Given the description of an element on the screen output the (x, y) to click on. 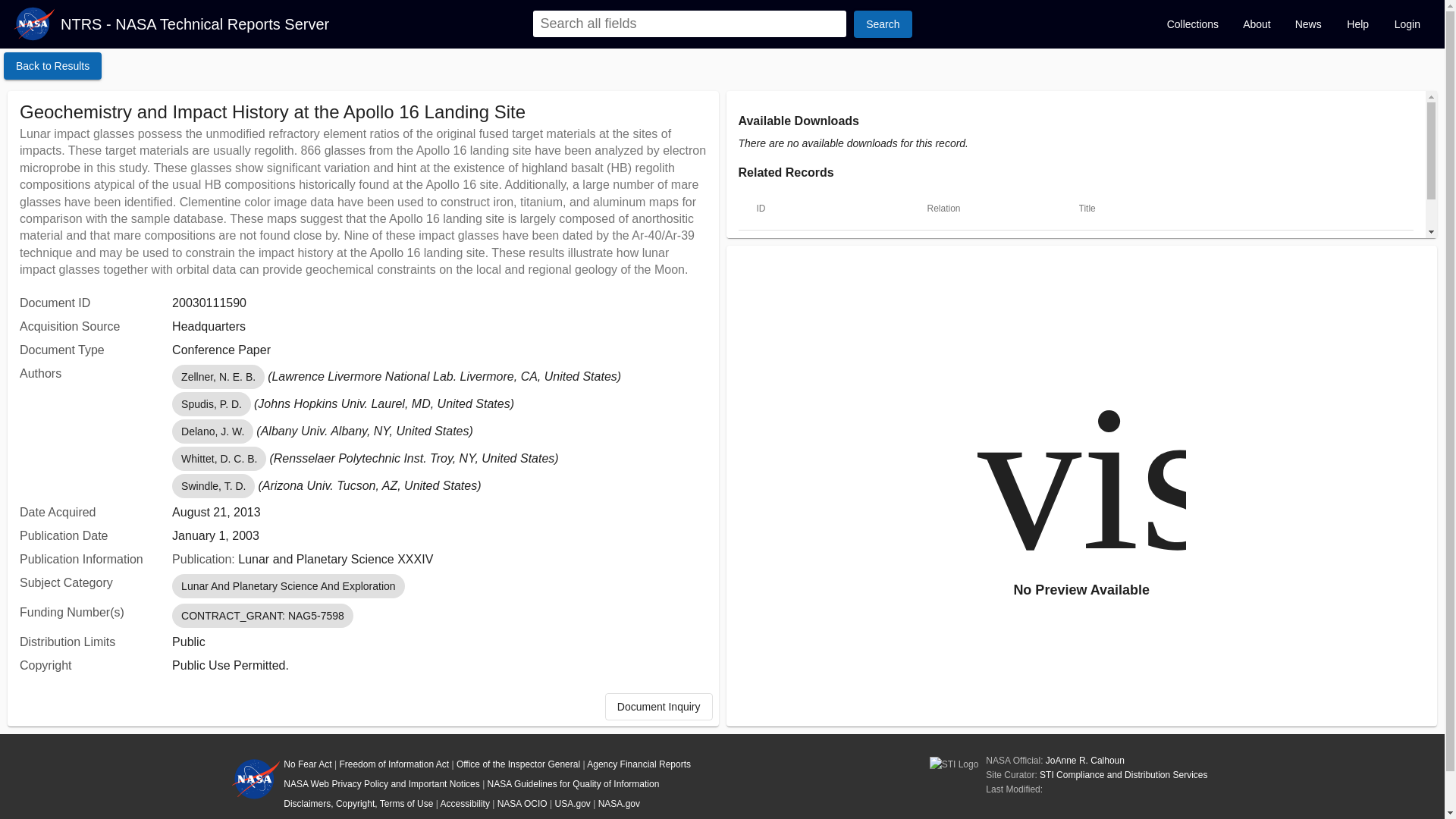
Freedom of Information Act (393, 764)
20030110578 (789, 248)
Disclaimers, Copyright, Terms of Use (357, 803)
Login (1406, 23)
Help (1357, 23)
Back to Results (52, 65)
NASA OCIO (522, 803)
Document Inquiry (659, 706)
About (1256, 23)
NASA.gov (619, 803)
Search (882, 23)
STI Compliance and Distribution Services (1123, 774)
Contact Us (306, 818)
USA.gov (572, 803)
